Given the description of an element on the screen output the (x, y) to click on. 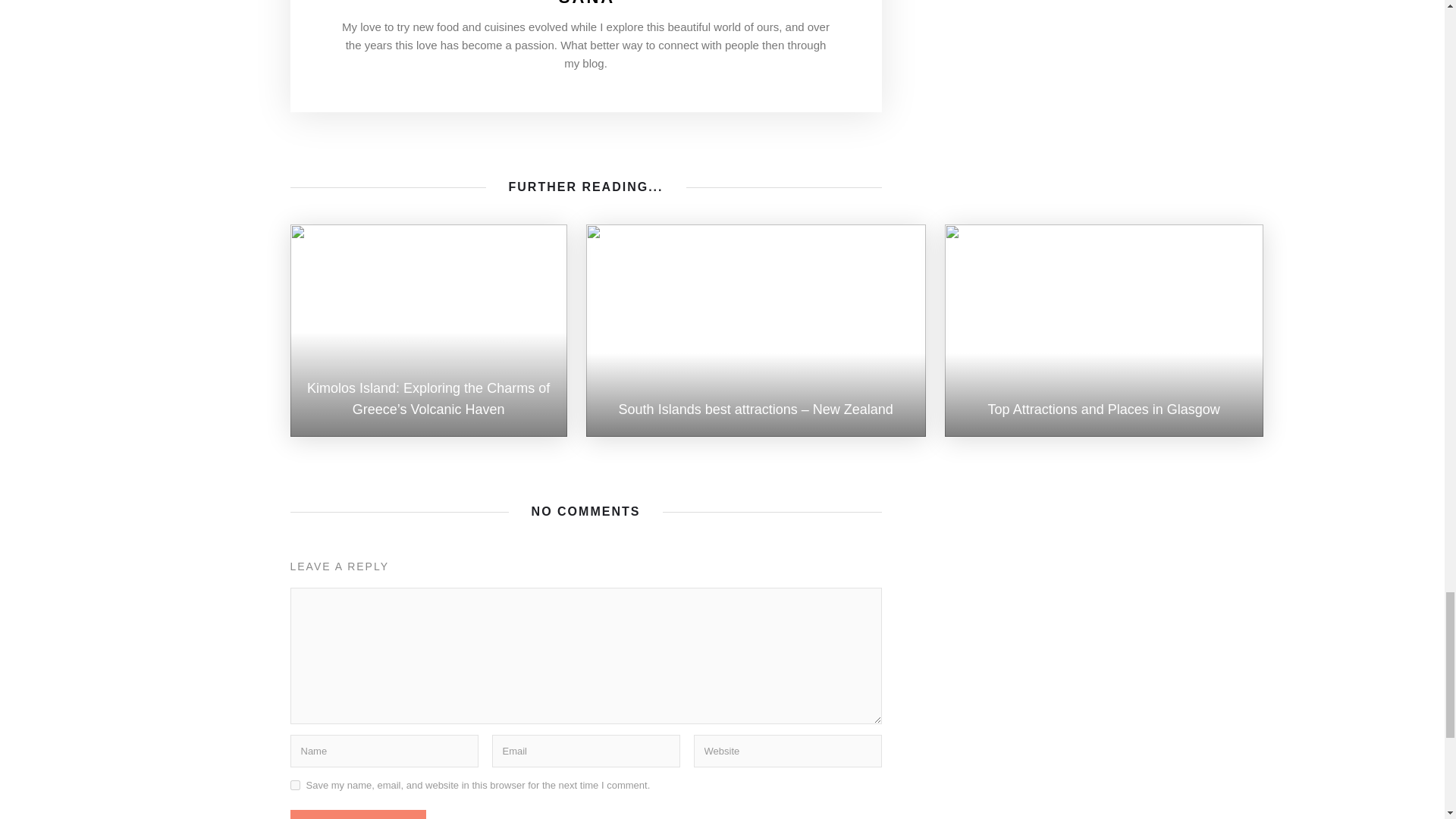
Post Comment (357, 814)
yes (294, 785)
Posts by Sana (586, 3)
